Given the description of an element on the screen output the (x, y) to click on. 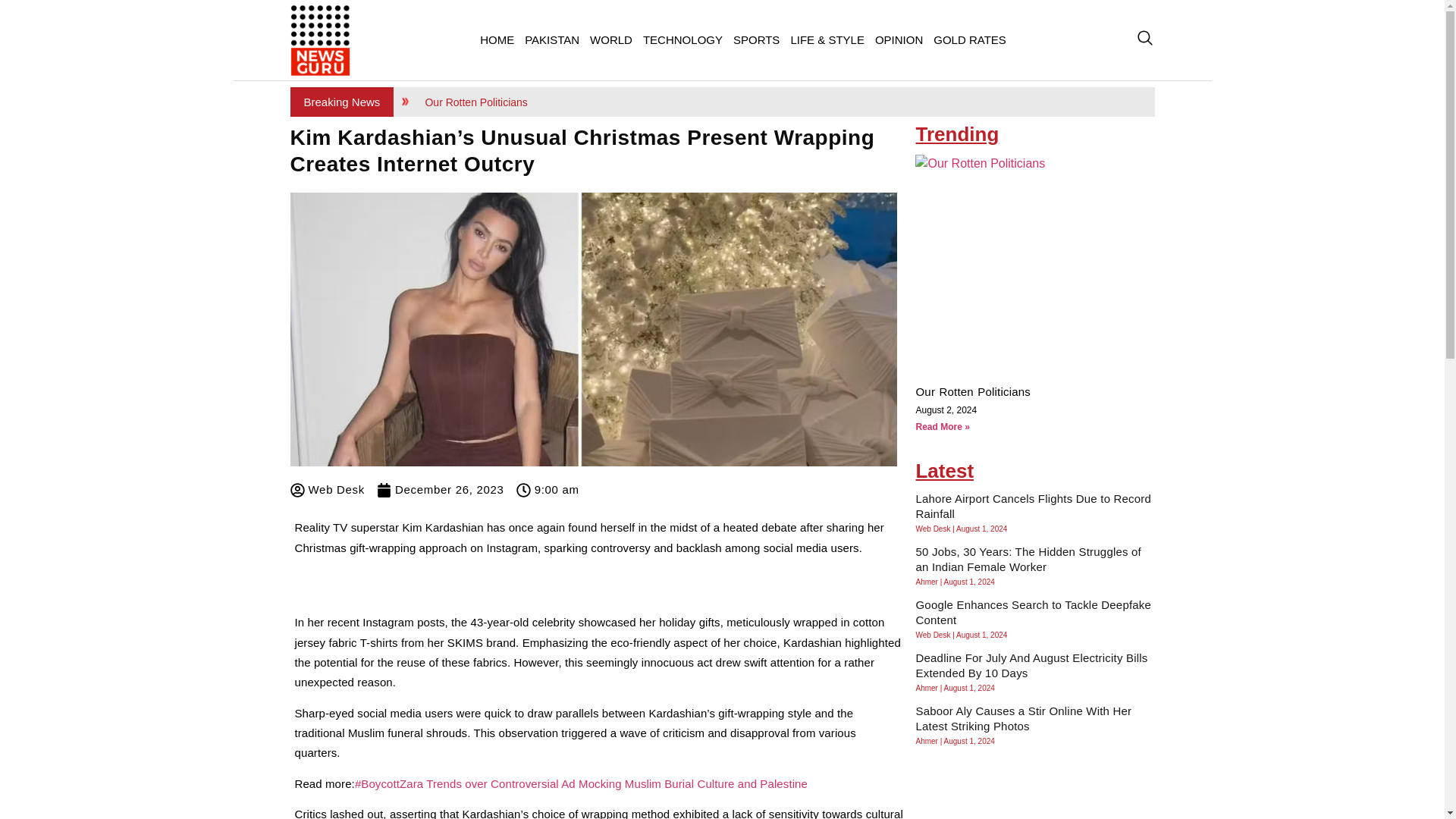
PAKISTAN (552, 39)
TECHNOLOGY (682, 39)
WORLD (611, 39)
GOLD RATES (969, 39)
HOME (496, 39)
OPINION (898, 39)
SPORTS (756, 39)
